Given the description of an element on the screen output the (x, y) to click on. 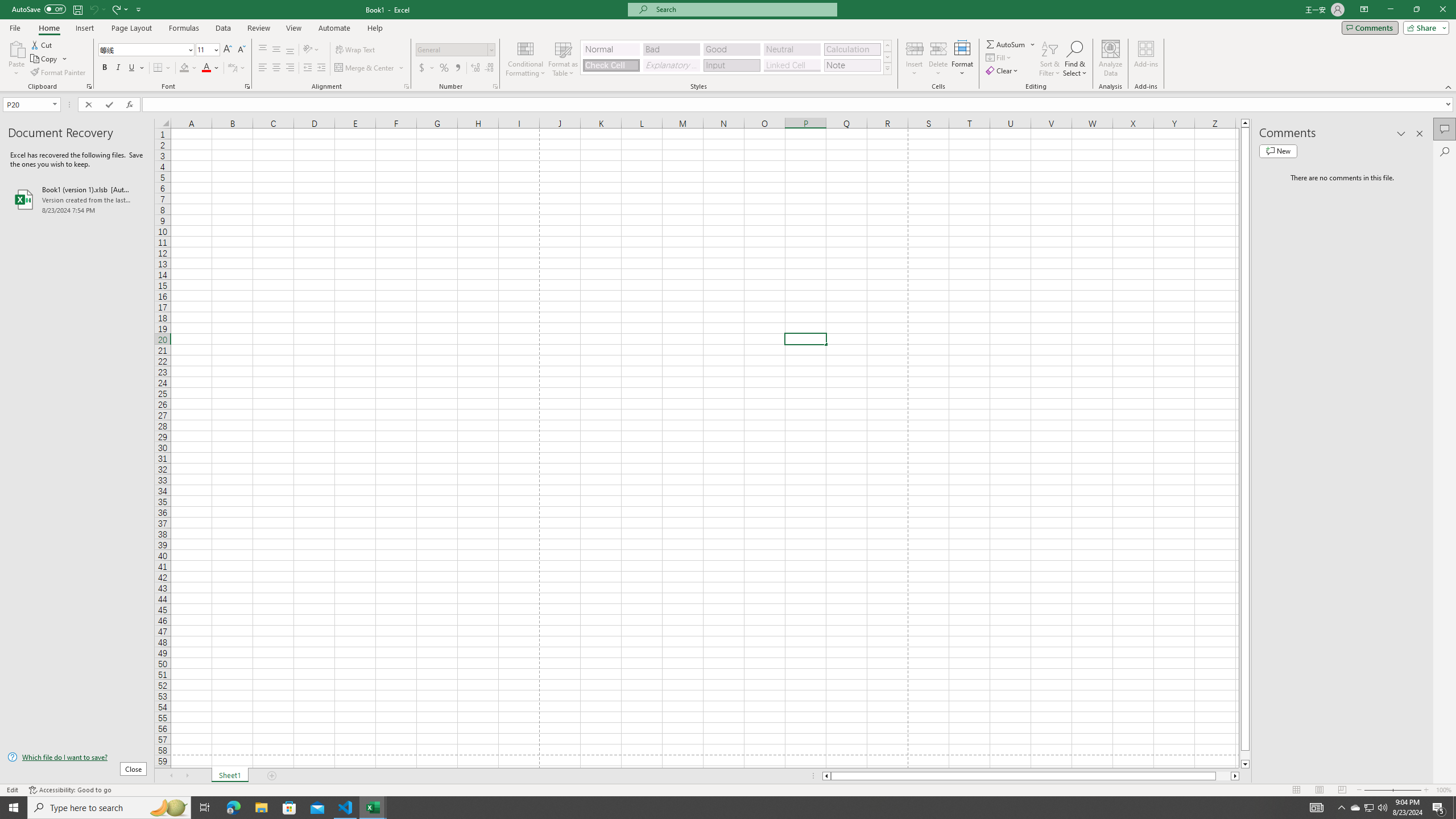
Bad (671, 49)
Format (962, 58)
Customize Quick Access Toolbar (139, 9)
Paste (16, 48)
Sort & Filter (1049, 58)
Page right (1222, 775)
Neutral (791, 49)
Linked Cell (791, 65)
Font Color (210, 67)
Percent Style (443, 67)
Bottom Align (290, 49)
Good (731, 49)
